Given the description of an element on the screen output the (x, y) to click on. 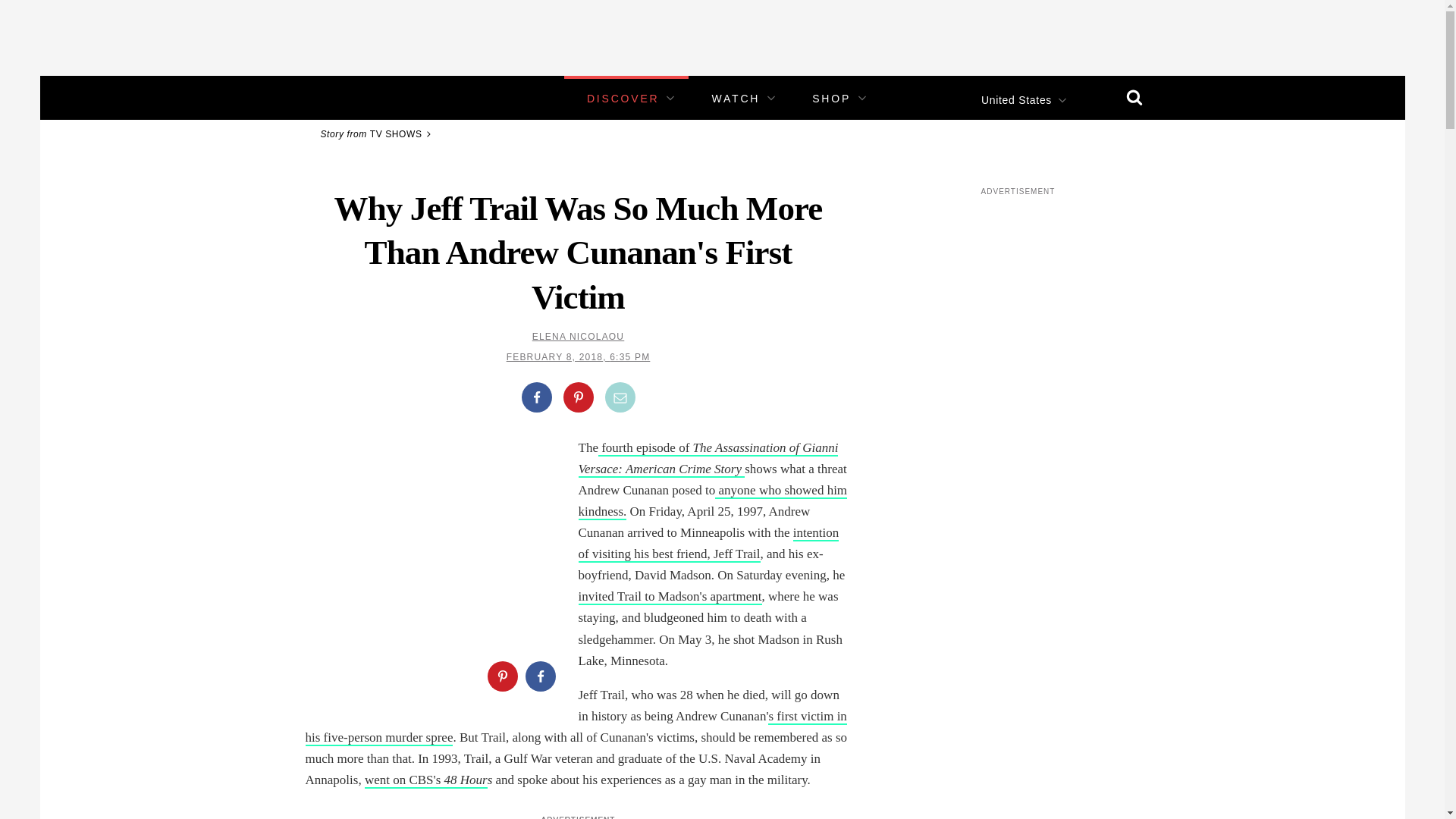
intention of visiting his best friend, Jeff Trail (708, 543)
invited Trail to Madson's apartment (669, 596)
Share by Email (619, 397)
s first victim in his five-person murder spree (574, 727)
SHOP (831, 98)
WATCH (735, 98)
Refinery29 (352, 97)
Share on Pinterest (577, 397)
DISCOVER (622, 98)
